Given the description of an element on the screen output the (x, y) to click on. 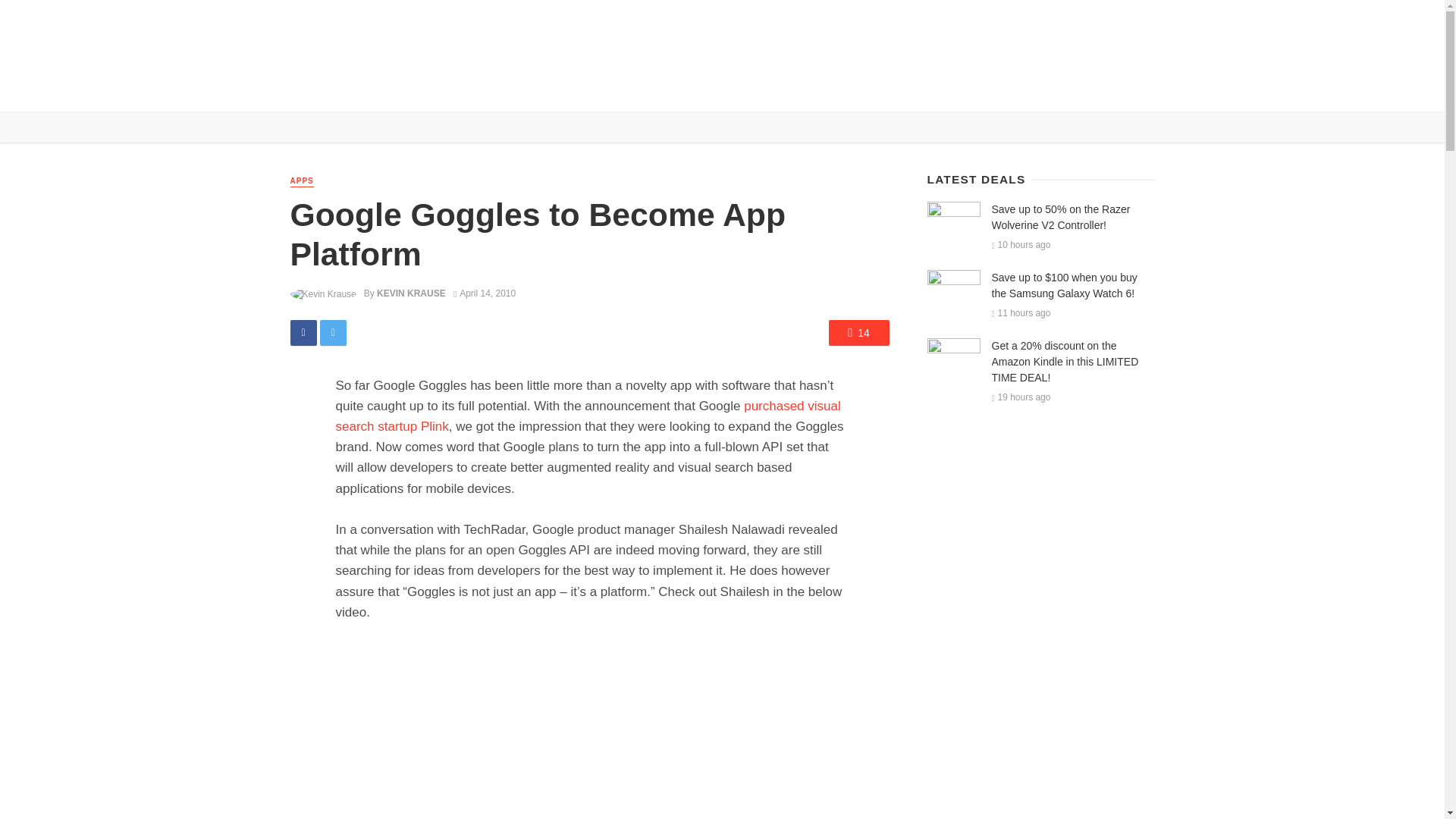
KEVIN KRAUSE (411, 293)
14 Comments (858, 332)
Share on Facebook (302, 332)
April 14, 2010 at 2:56 pm (483, 293)
OPINION (560, 89)
REVIEWS (398, 89)
NEWS (345, 89)
MORE (612, 89)
14 (858, 332)
APPS (301, 181)
